Given the description of an element on the screen output the (x, y) to click on. 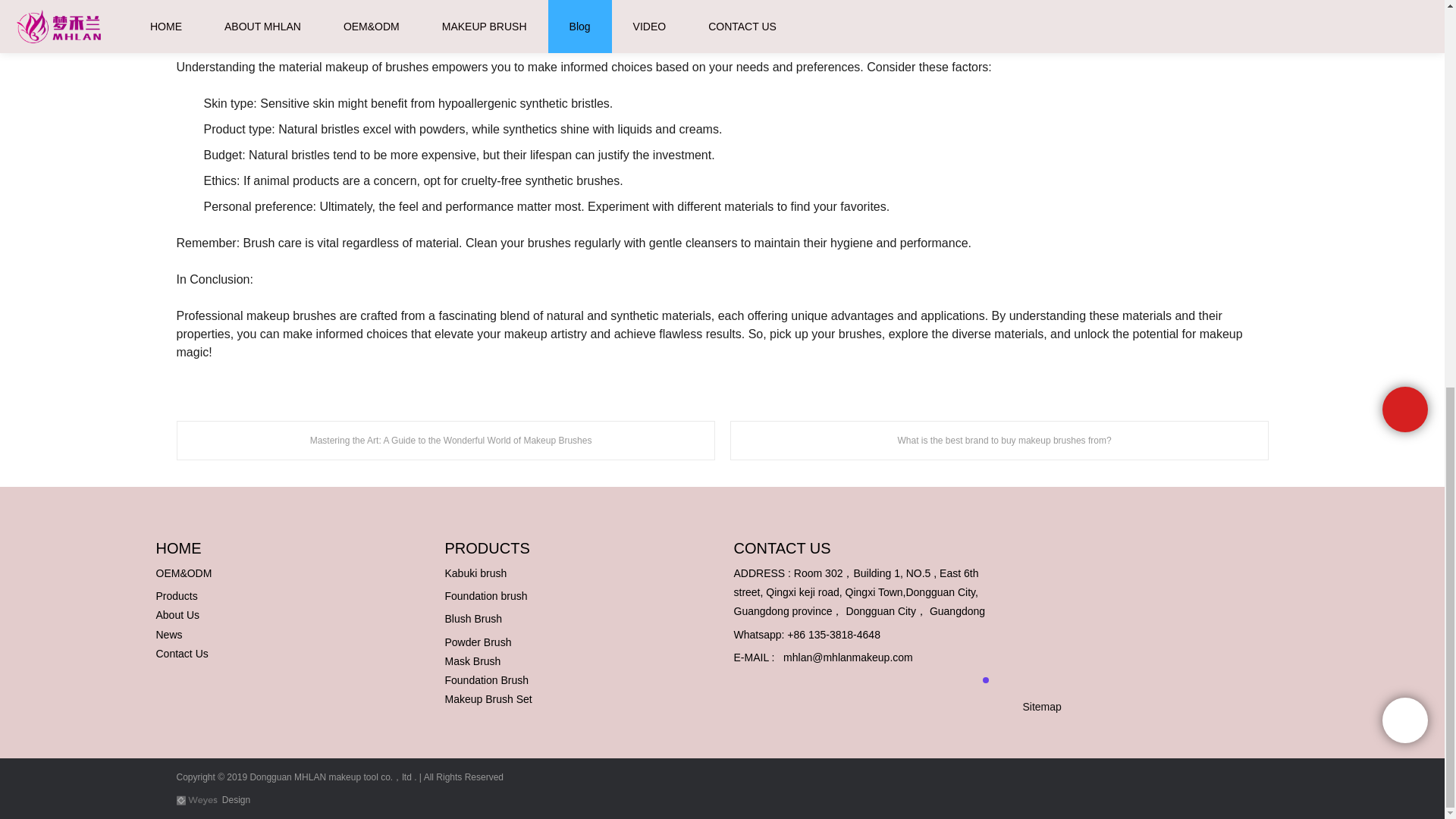
Mask Brush (472, 661)
Kabuki brush (475, 573)
Blush Brush (472, 618)
Foundation Brush (486, 680)
What is the best brand to buy makeup brushes from? (998, 440)
Contact Us (181, 653)
Makeup Brush Set (487, 698)
What is the best brand to buy makeup brushes from? (998, 440)
Powder Brush (477, 642)
Foundation brush (485, 595)
Products (176, 595)
About Us (177, 614)
News (169, 634)
